Given the description of an element on the screen output the (x, y) to click on. 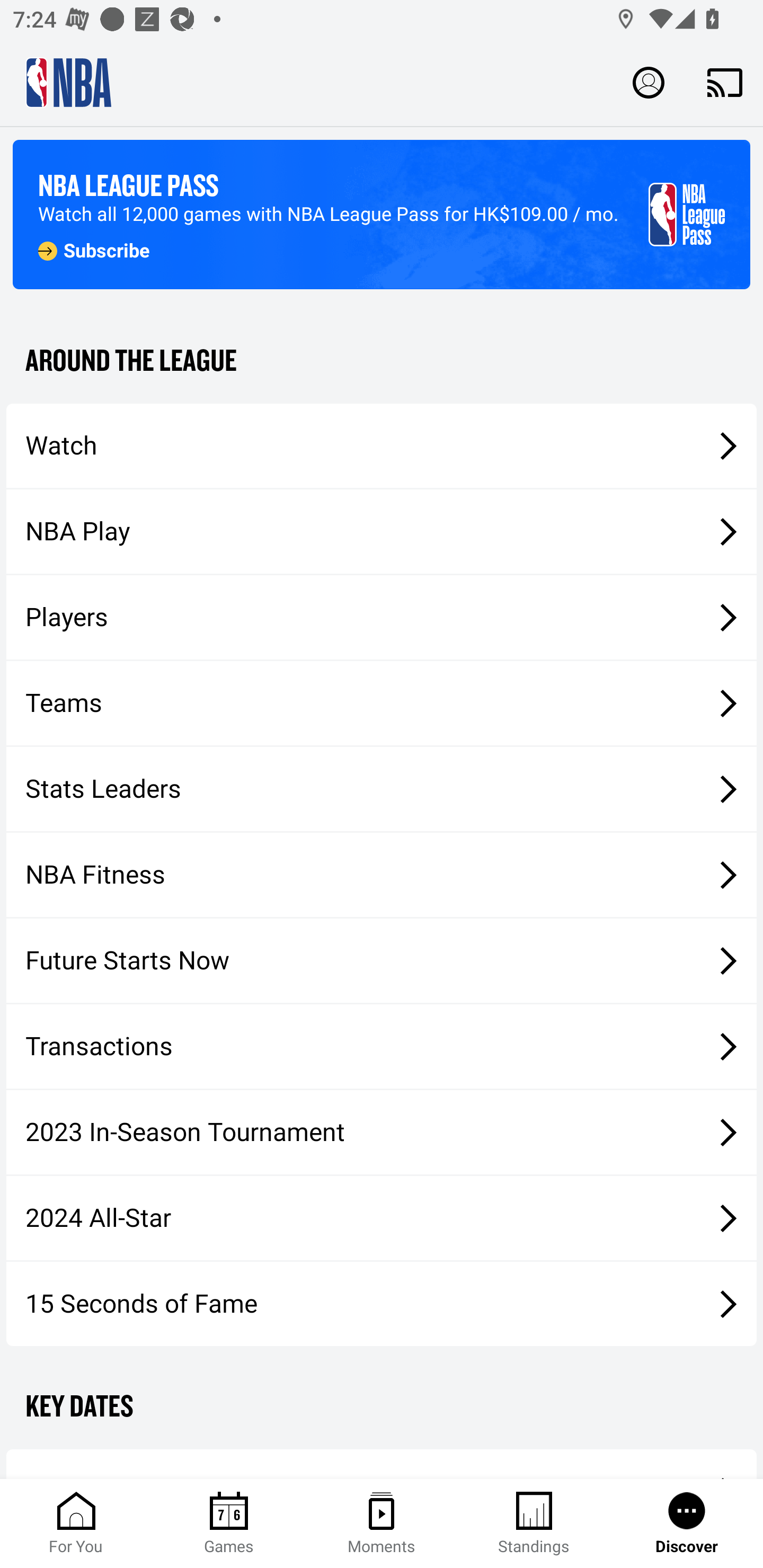
Cast. Disconnected (724, 82)
Profile (648, 81)
Watch (381, 444)
NBA Play (381, 531)
Players (381, 617)
Teams (381, 702)
Stats Leaders (381, 788)
NBA Fitness (381, 874)
Future Starts Now (381, 960)
Transactions (381, 1046)
2023 In-Season Tournament (381, 1131)
2024 All-Star (381, 1218)
15 Seconds of Fame (381, 1303)
For You (76, 1523)
Games (228, 1523)
Moments (381, 1523)
Standings (533, 1523)
